Given the description of an element on the screen output the (x, y) to click on. 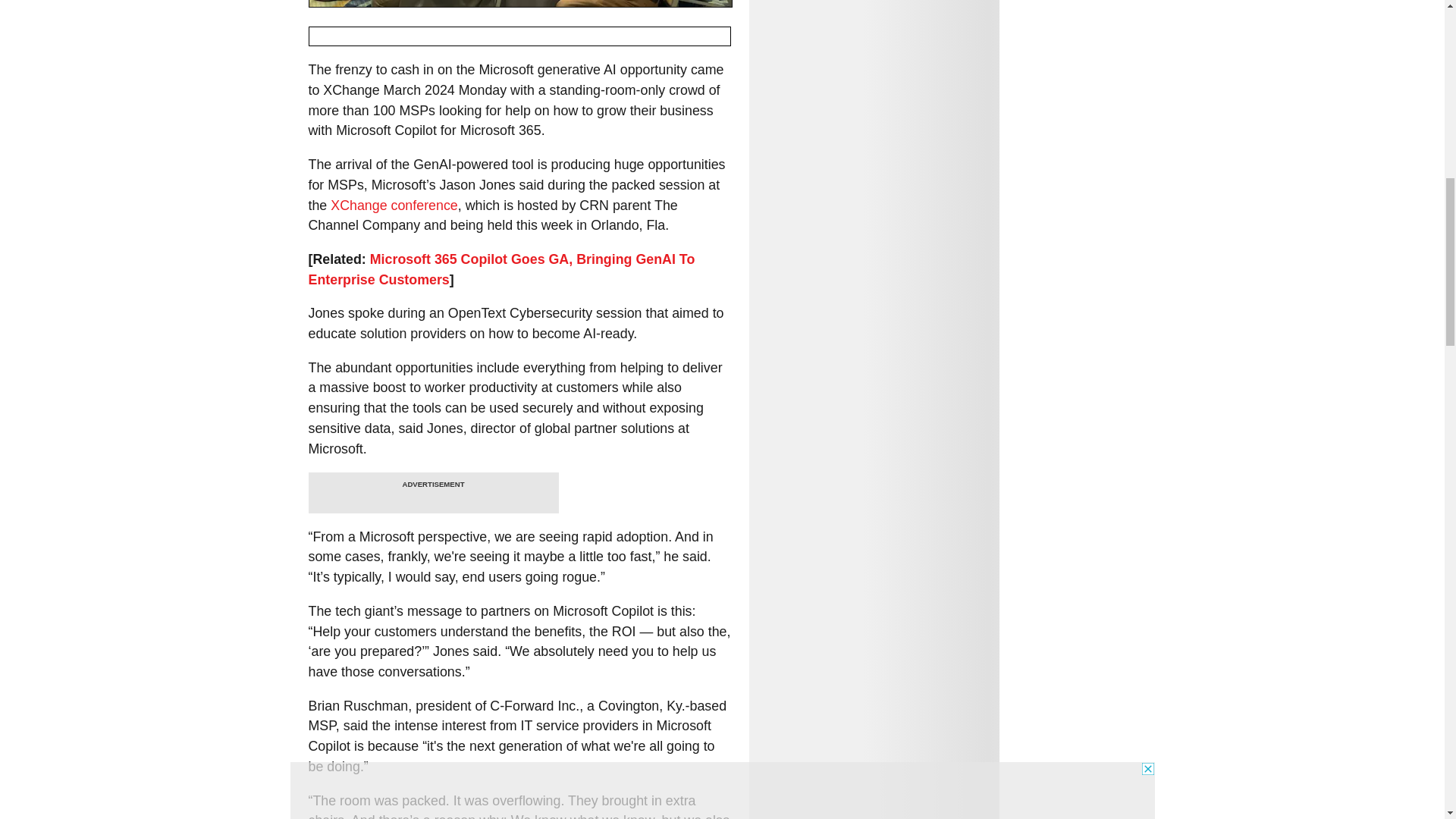
XChange conference (394, 205)
XChange conference (394, 205)
